Given the description of an element on the screen output the (x, y) to click on. 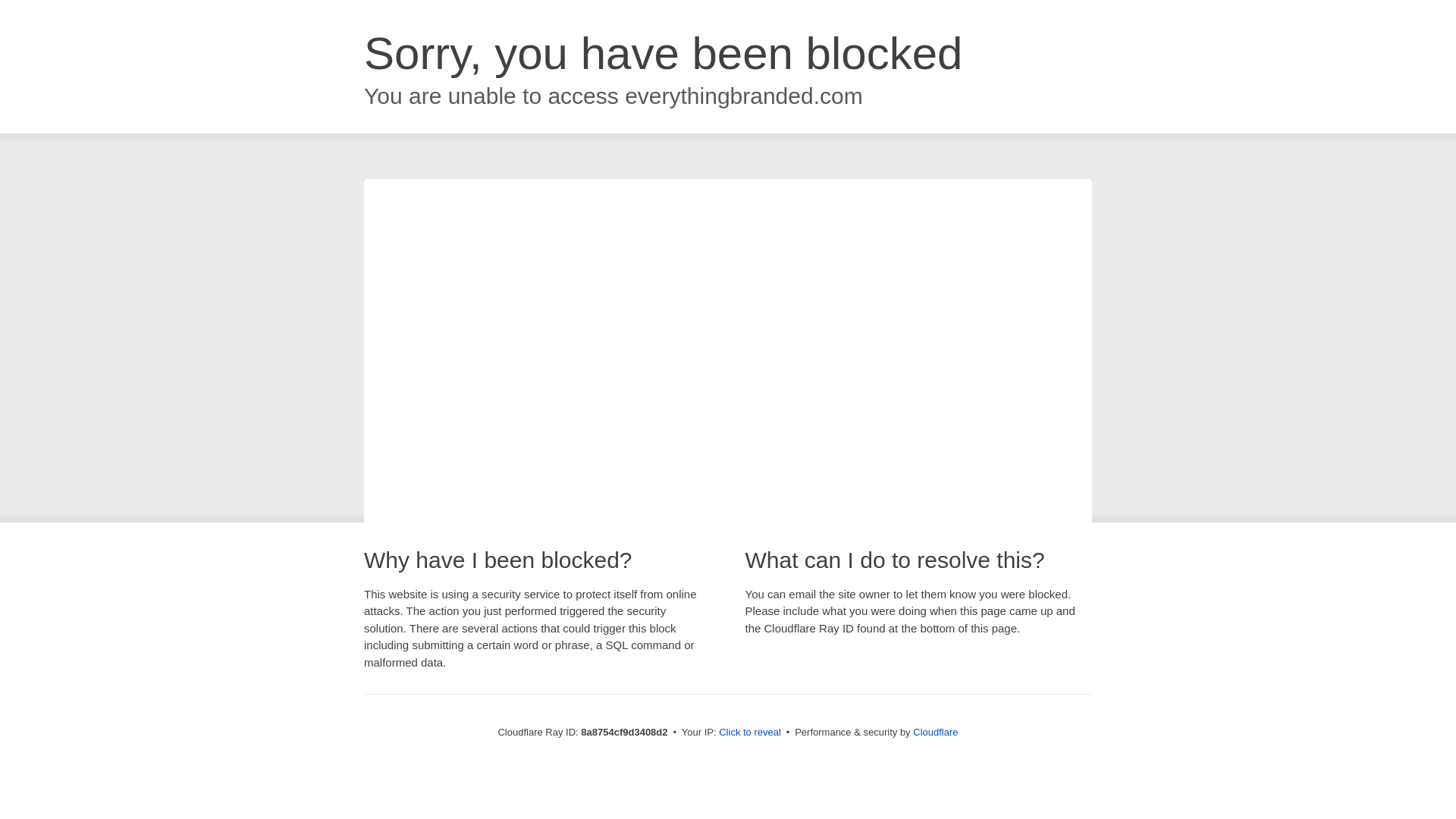
Cloudflare (935, 731)
Click to reveal (749, 732)
